Given the description of an element on the screen output the (x, y) to click on. 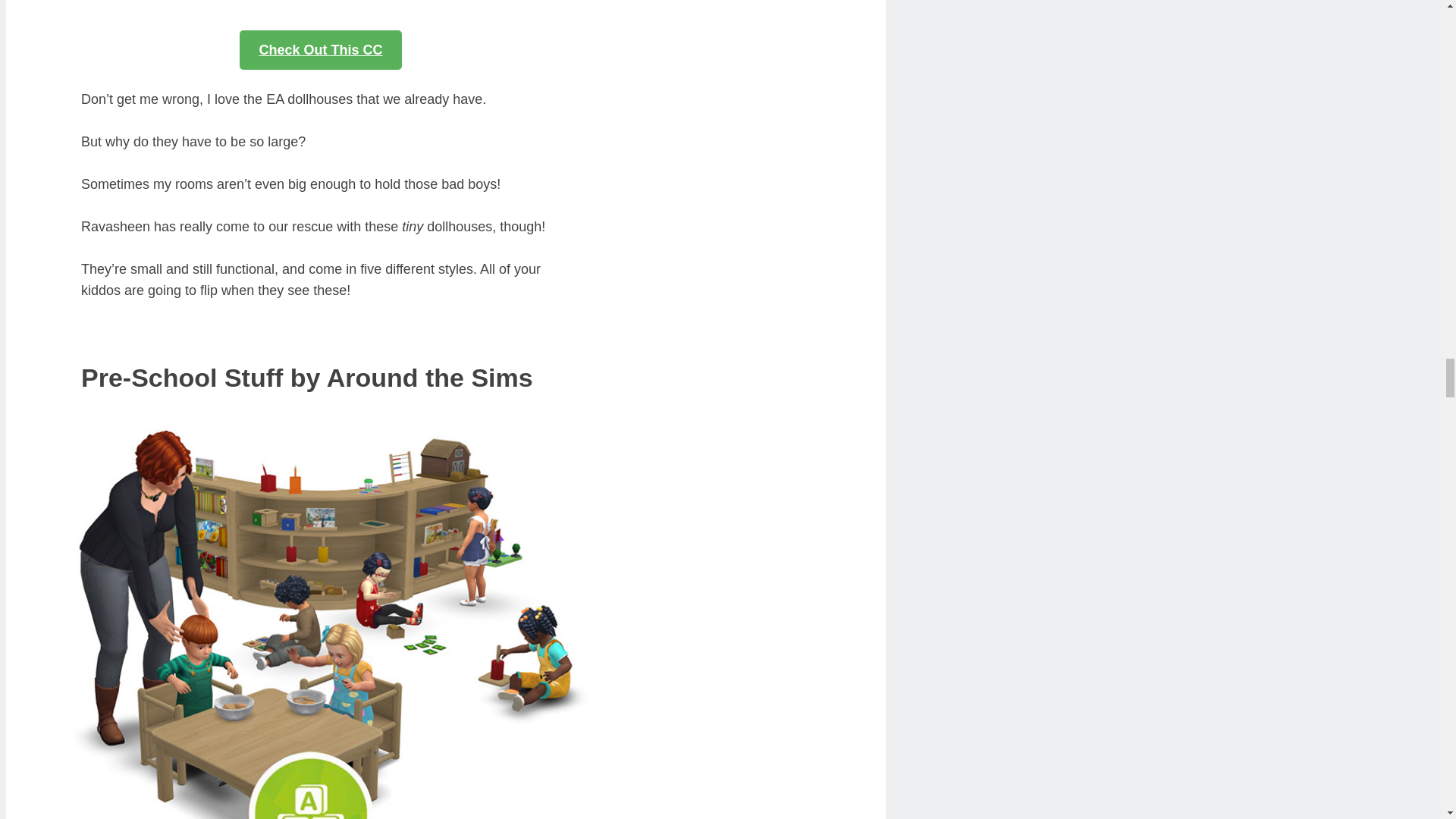
Check Out This CC (320, 49)
